Given the description of an element on the screen output the (x, y) to click on. 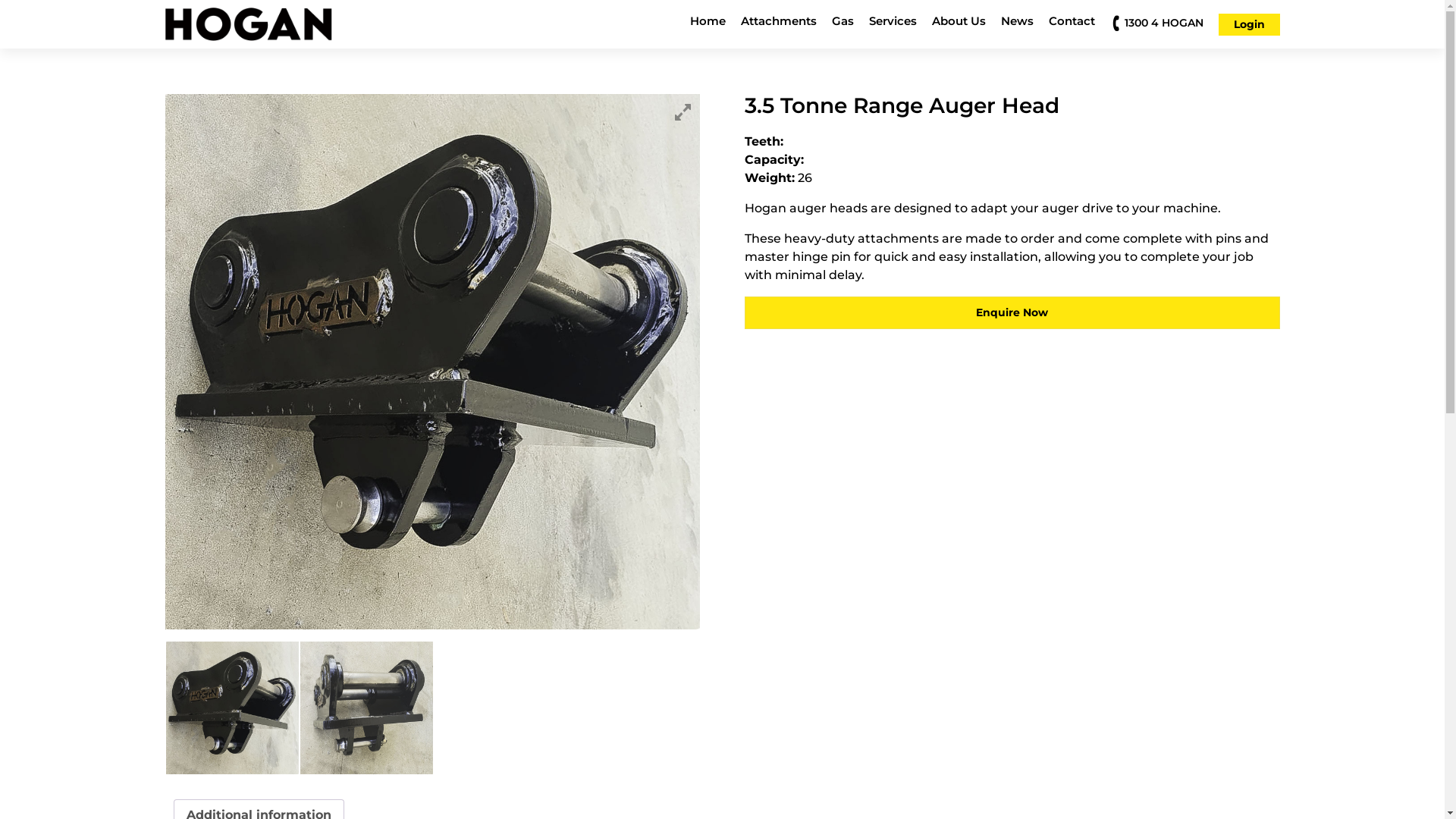
Gas Element type: text (842, 24)
About Us Element type: text (958, 24)
Enquire Now Element type: text (1012, 312)
News Element type: text (1017, 24)
1300 4 HOGAN Element type: text (1162, 22)
Services Element type: text (892, 24)
Contact Element type: text (1071, 24)
3.5T_Auger_Head_1 Element type: hover (432, 361)
Attachments Element type: text (777, 24)
Login Element type: text (1248, 24)
Home Element type: text (707, 24)
